Given the description of an element on the screen output the (x, y) to click on. 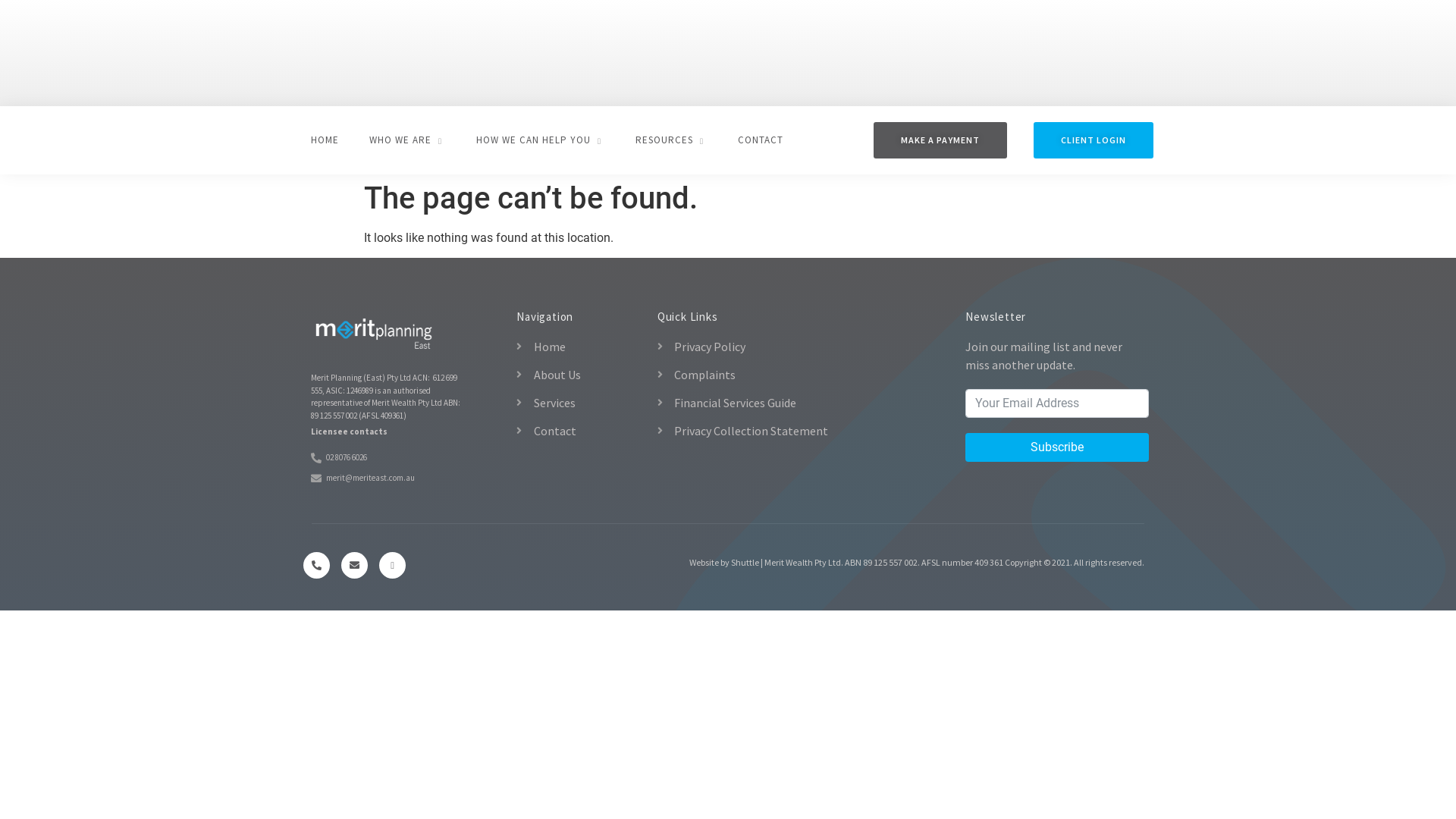
02 8076 6026 Element type: text (394, 457)
About Us Element type: text (579, 374)
RESOURCES Element type: text (671, 140)
Complaints Element type: text (792, 374)
Privacy Collection Statement Element type: text (792, 430)
Financial Services Guide Element type: text (792, 402)
Contact Element type: text (579, 430)
Website by Shuttle Element type: text (724, 561)
WHO WE ARE Element type: text (407, 140)
HOME Element type: text (324, 140)
HOW WE CAN HELP YOU Element type: text (540, 140)
Privacy Policy Element type: text (792, 346)
Home Element type: text (579, 346)
MAKE A PAYMENT Element type: text (940, 140)
CONTACT Element type: text (760, 140)
Services Element type: text (579, 402)
CLIENT LOGIN Element type: text (1093, 140)
Subscribe Element type: text (1056, 447)
merit@meriteast.com.au Element type: text (394, 478)
